Given the description of an element on the screen output the (x, y) to click on. 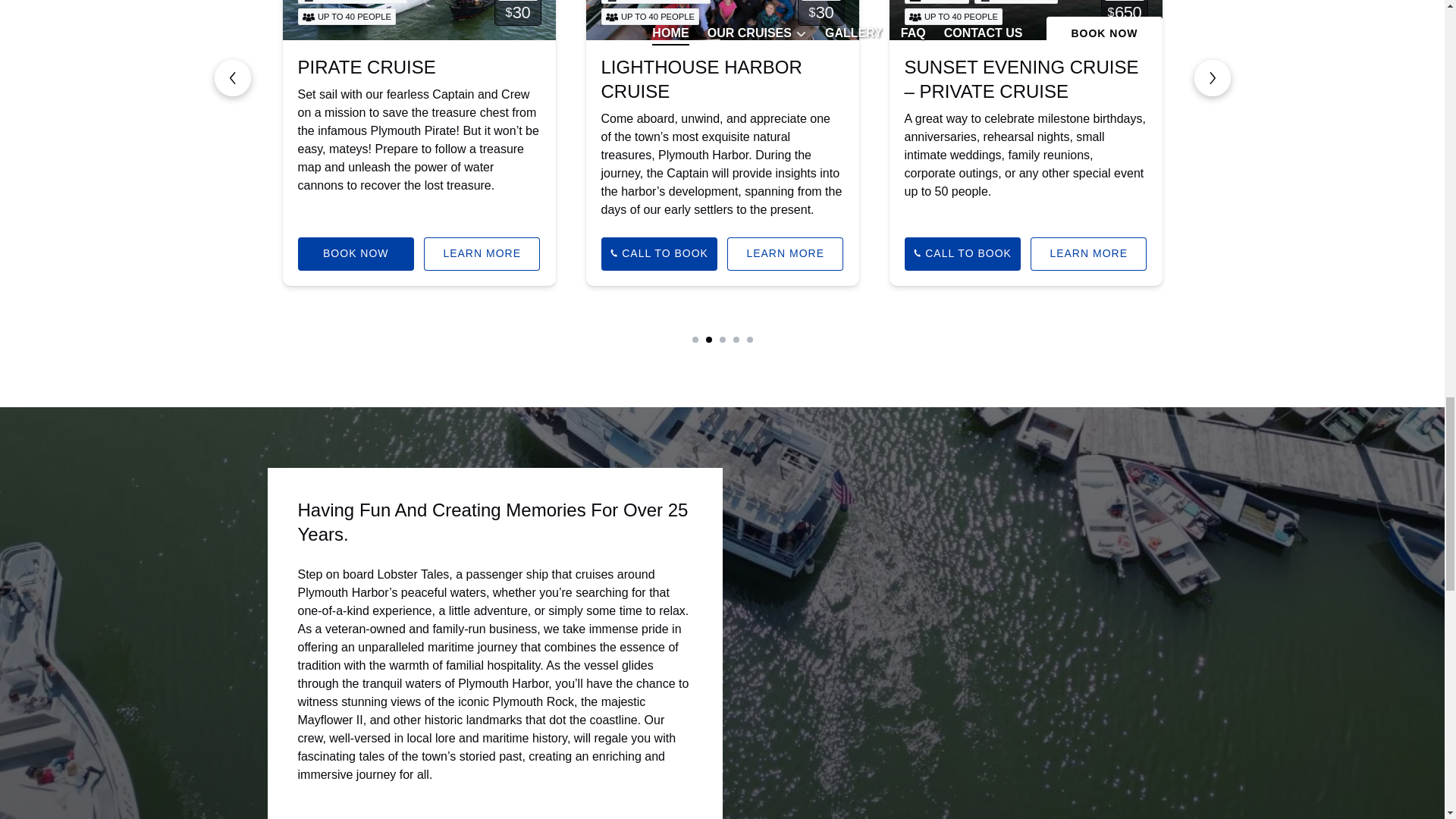
Previous (232, 77)
